Given the description of an element on the screen output the (x, y) to click on. 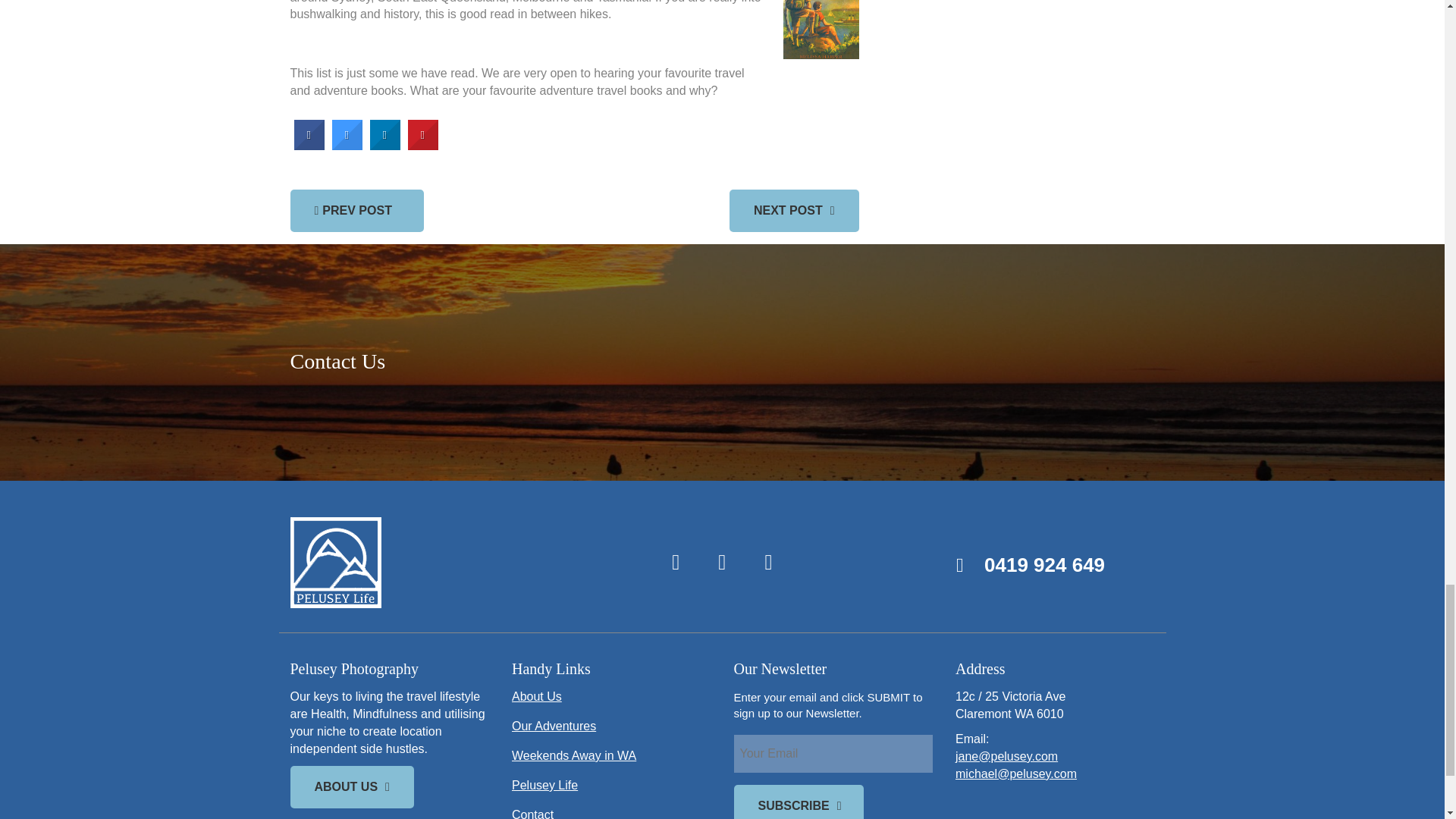
NEXT POST (794, 210)
Share to LinkedIn (384, 145)
Subscribe (798, 801)
Pelusey Photography (425, 562)
Share on Facebook (309, 145)
Share on Pinterest (422, 145)
Share on Twitter (346, 145)
PREV POST (356, 210)
